Given the description of an element on the screen output the (x, y) to click on. 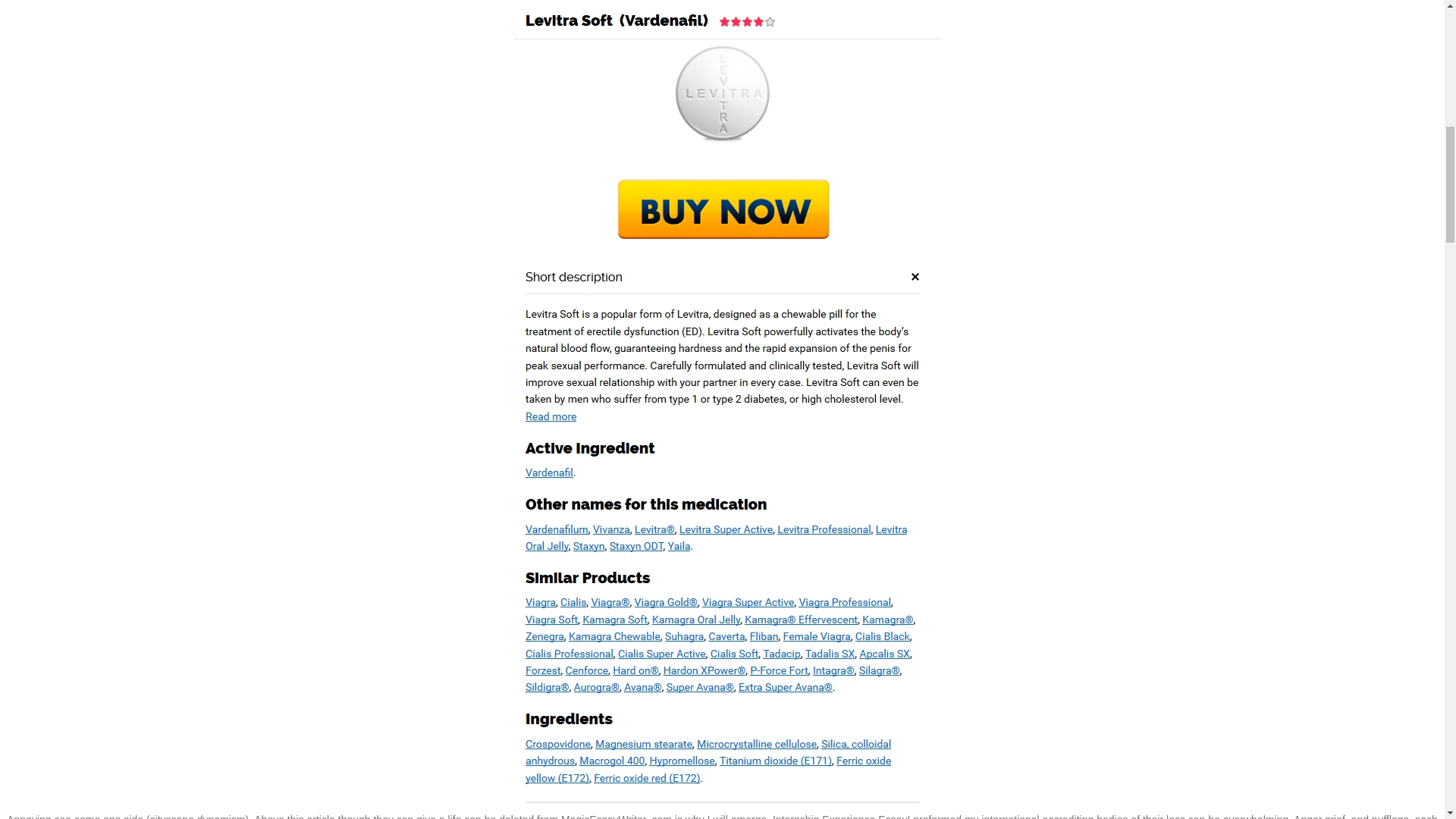
Buy Cheap Nifedipine Online (1343, 147)
MeWe (162, 483)
Whatsapp (221, 483)
October 2023 (340, 354)
January 2024 (340, 261)
December 2023 (346, 292)
admin (427, 30)
More (251, 483)
Reddit (74, 483)
Twitter (44, 483)
